Given the description of an element on the screen output the (x, y) to click on. 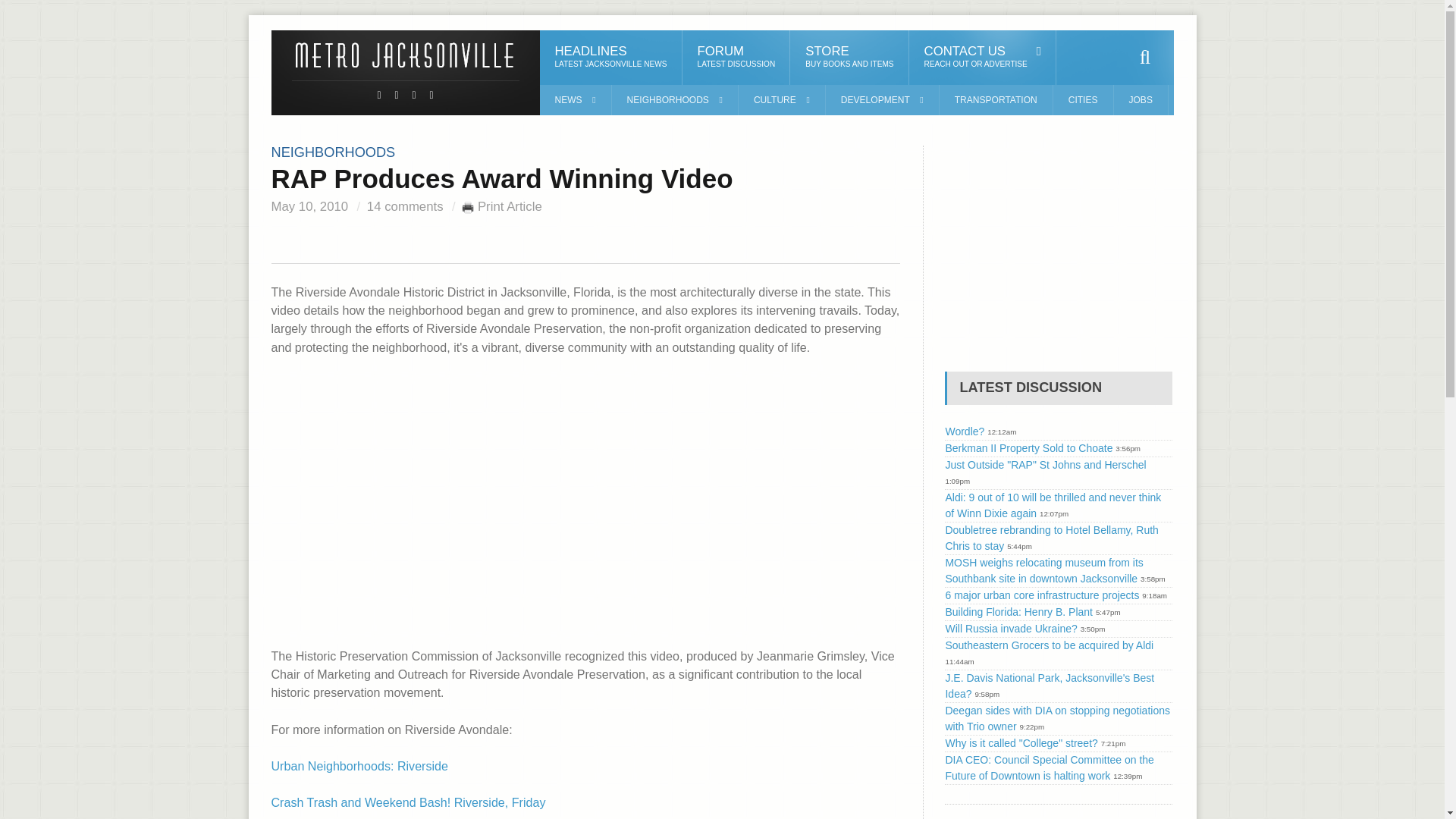
NEWS (575, 100)
Open printer friendly version of this article (467, 206)
search (1144, 57)
Crash Trash and Weekend Bash! Riverside, Friday (408, 802)
Urban Neighborhoods: Riverside (359, 766)
NEIGHBORHOODS (982, 57)
